Given the description of an element on the screen output the (x, y) to click on. 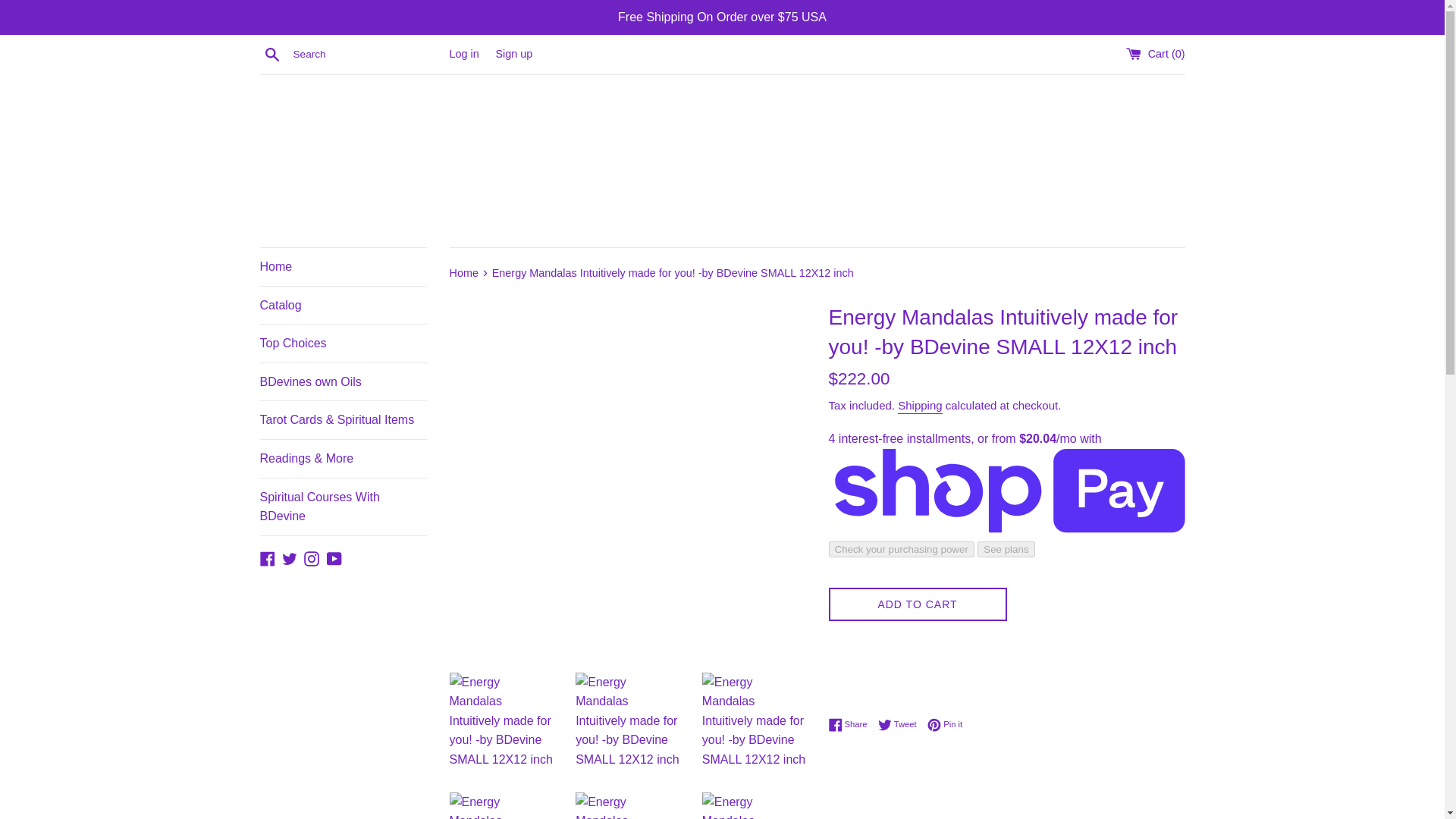
Twitter (289, 557)
Facebook (267, 557)
Top Choices (342, 343)
Search (271, 53)
ADD TO CART (917, 604)
Catalog (342, 305)
Home (342, 266)
Sign up (513, 53)
Spiritual Courses With BDevine (342, 506)
BDevines own Oils (342, 382)
Rockn Gems on Facebook (267, 557)
Shipping (920, 406)
Instagram (311, 557)
Back to the frontpage (464, 272)
Pin on Pinterest (944, 725)
